Given the description of an element on the screen output the (x, y) to click on. 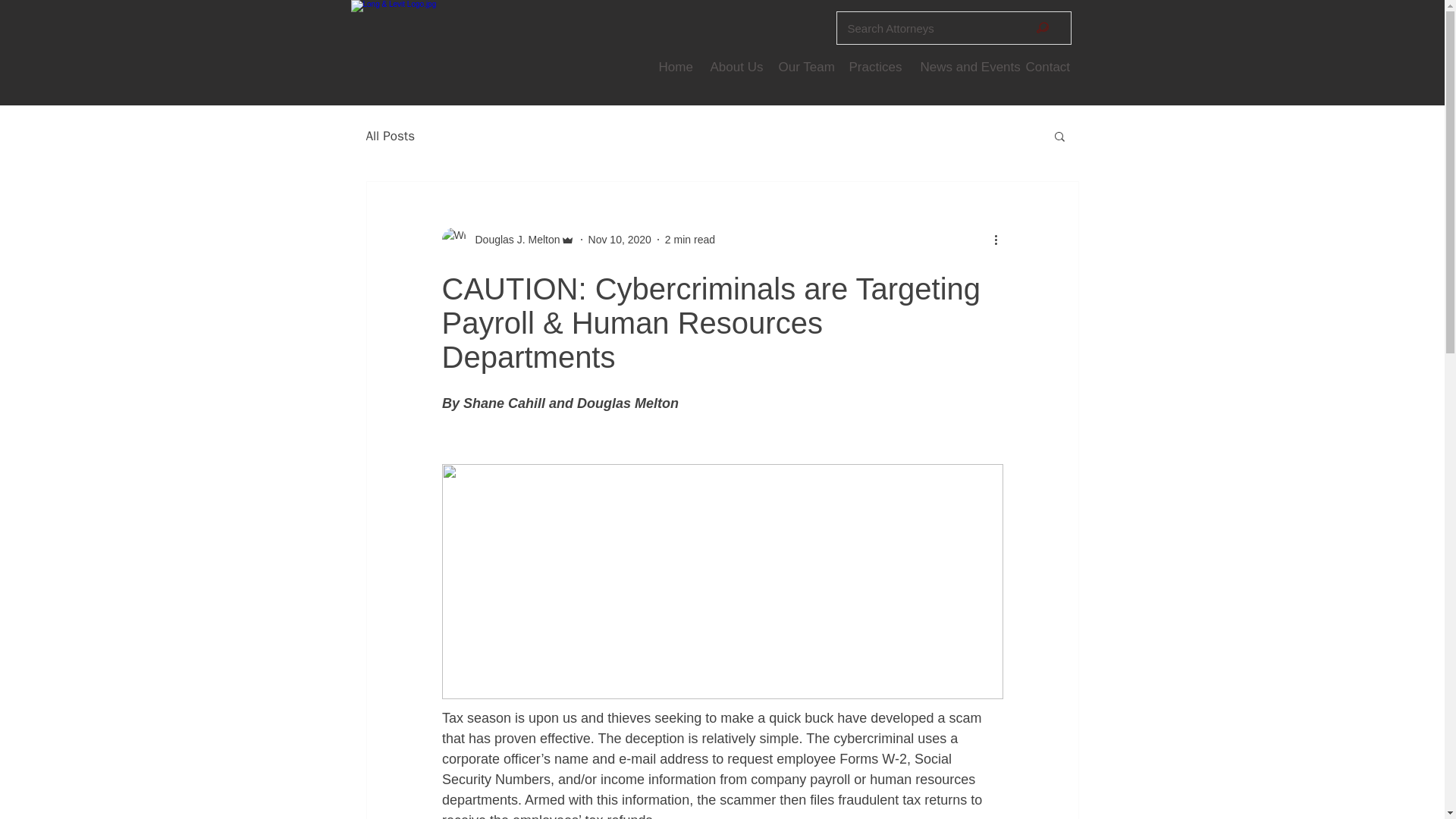
News and Events (960, 67)
Home (672, 67)
About Us (732, 67)
Nov 10, 2020 (619, 239)
Practices (872, 67)
All Posts (389, 135)
Douglas J. Melton (512, 239)
Our Team (802, 67)
2 min read (689, 239)
Contact (1045, 67)
